Given the description of an element on the screen output the (x, y) to click on. 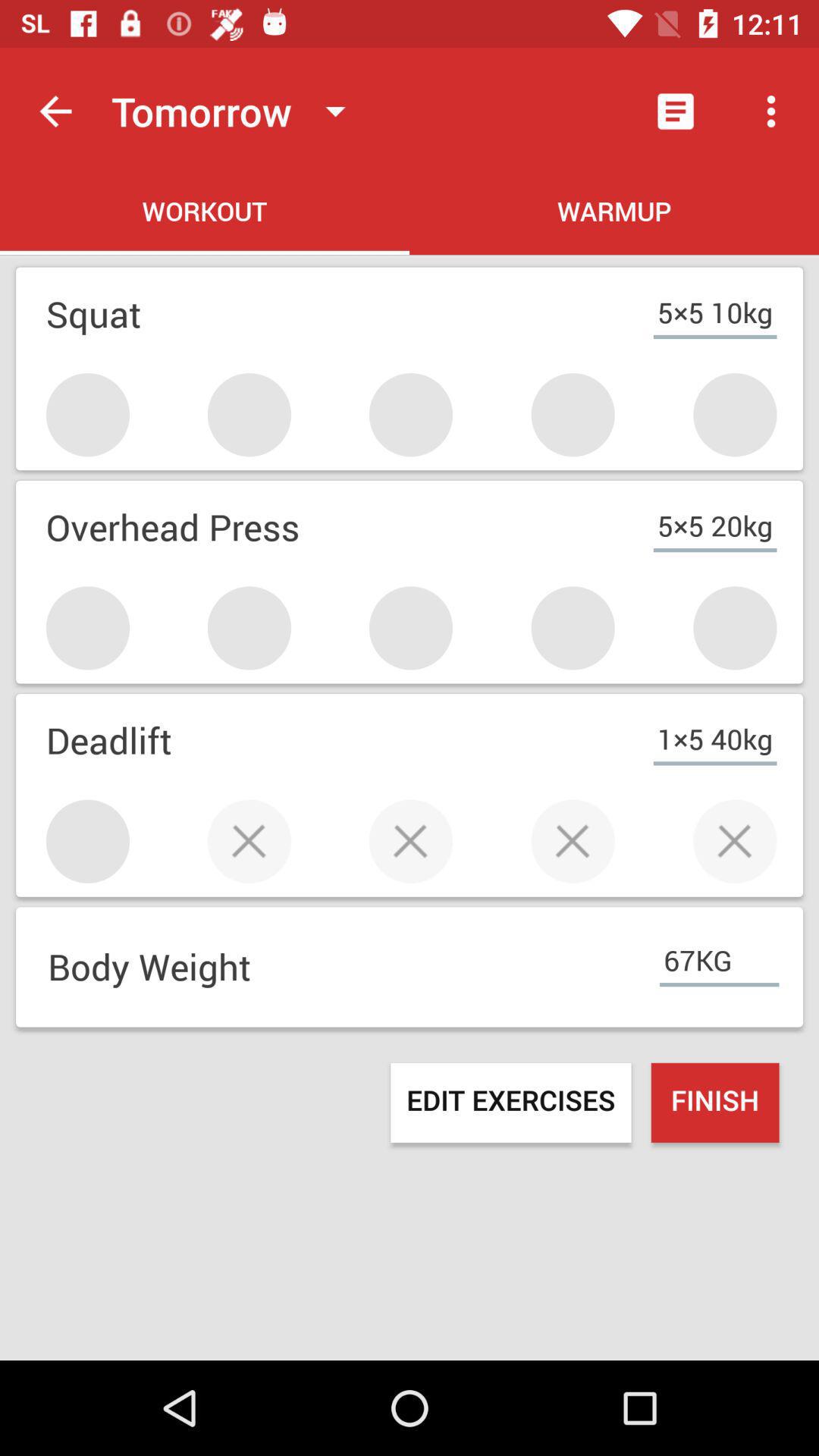
turn off item above warmup (675, 111)
